Given the description of an element on the screen output the (x, y) to click on. 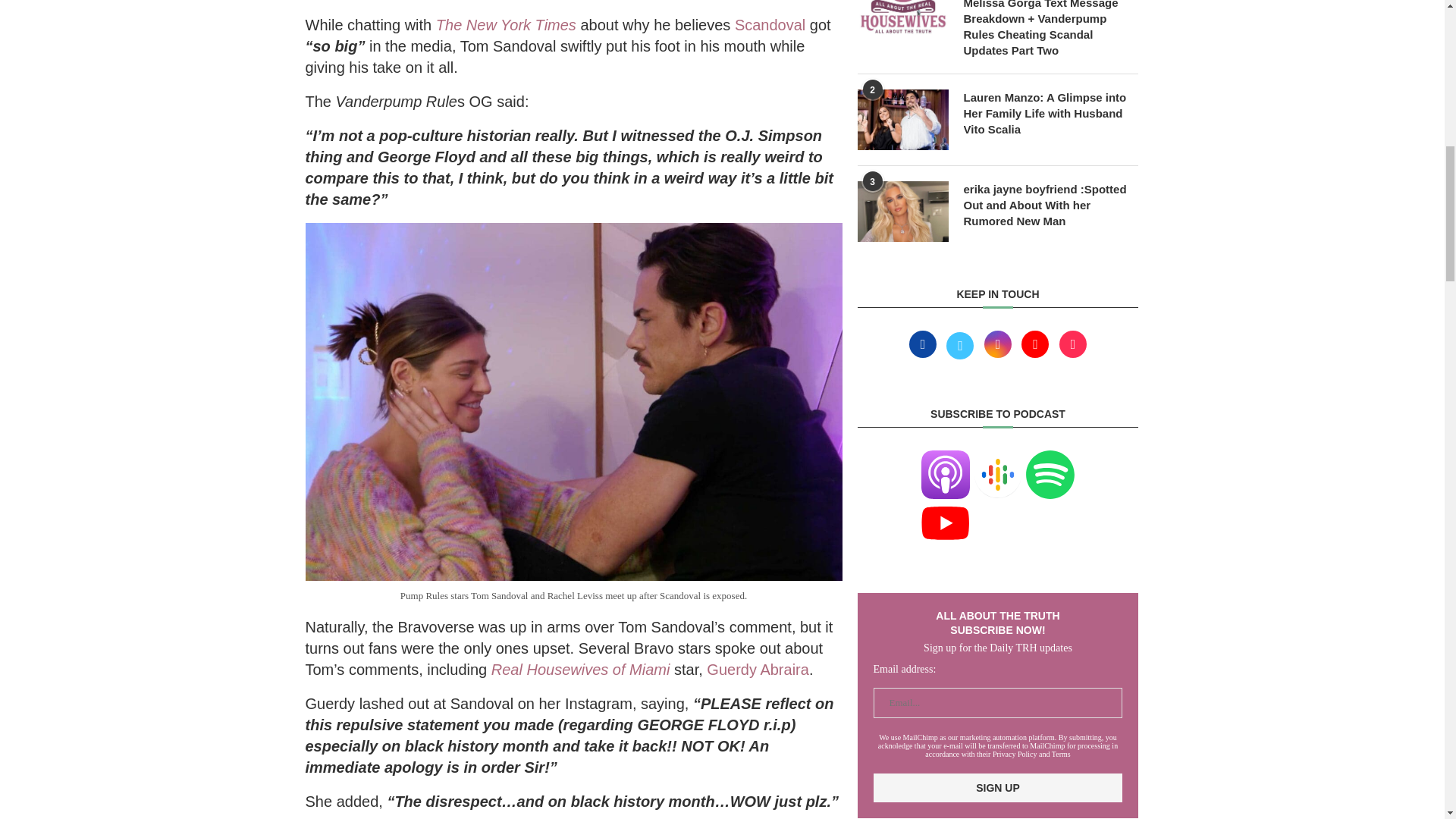
Sign Up (997, 787)
